Given the description of an element on the screen output the (x, y) to click on. 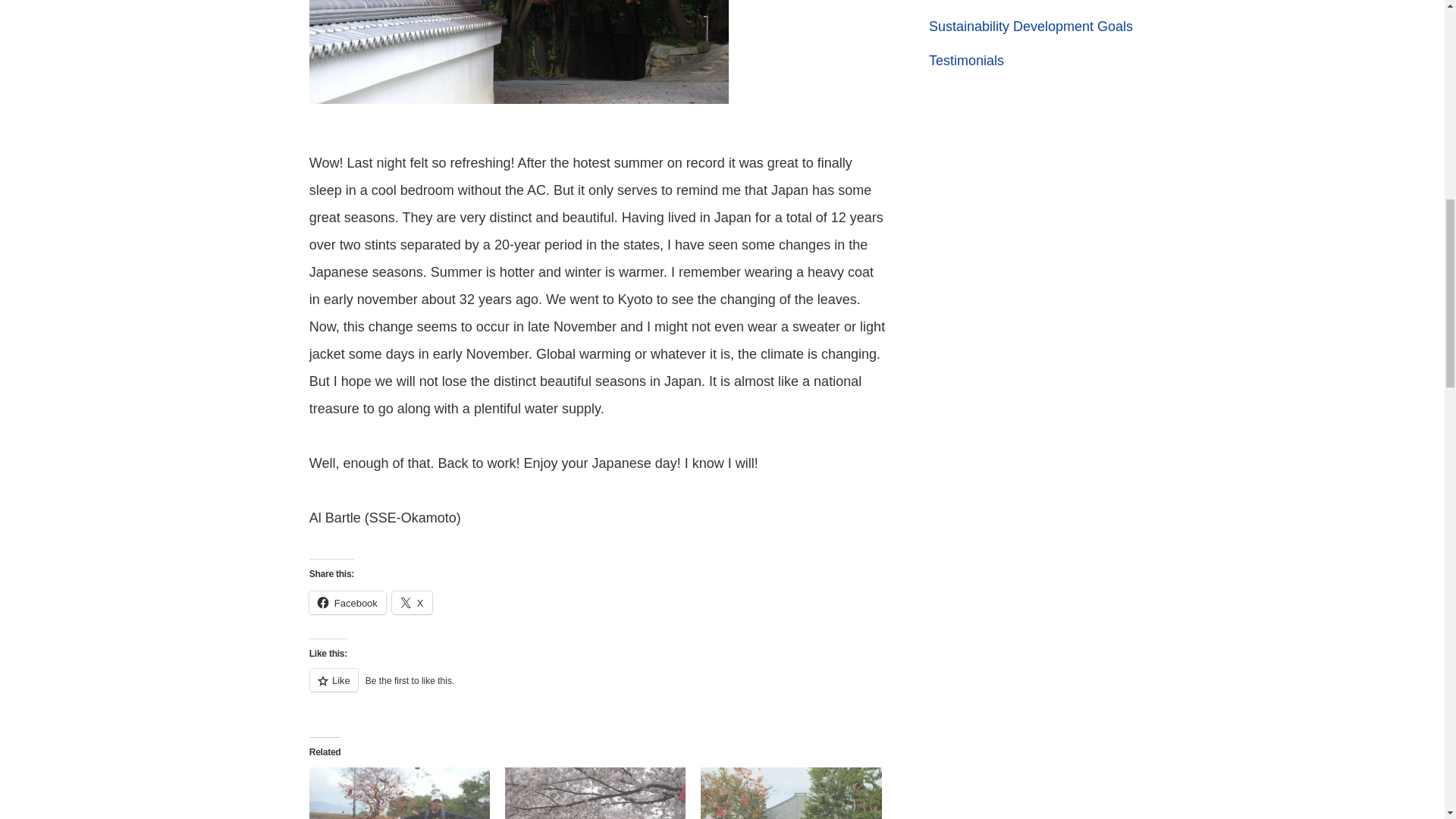
Facebook (346, 602)
Like or Reblog (598, 689)
The Changing Seasons of Japan (595, 793)
X (411, 602)
Click to share on X (411, 602)
Temple Grounds in Autumn; Sagamihara City, Japan (790, 793)
Click to share on Facebook (346, 602)
The Open Window Season (398, 793)
